Given the description of an element on the screen output the (x, y) to click on. 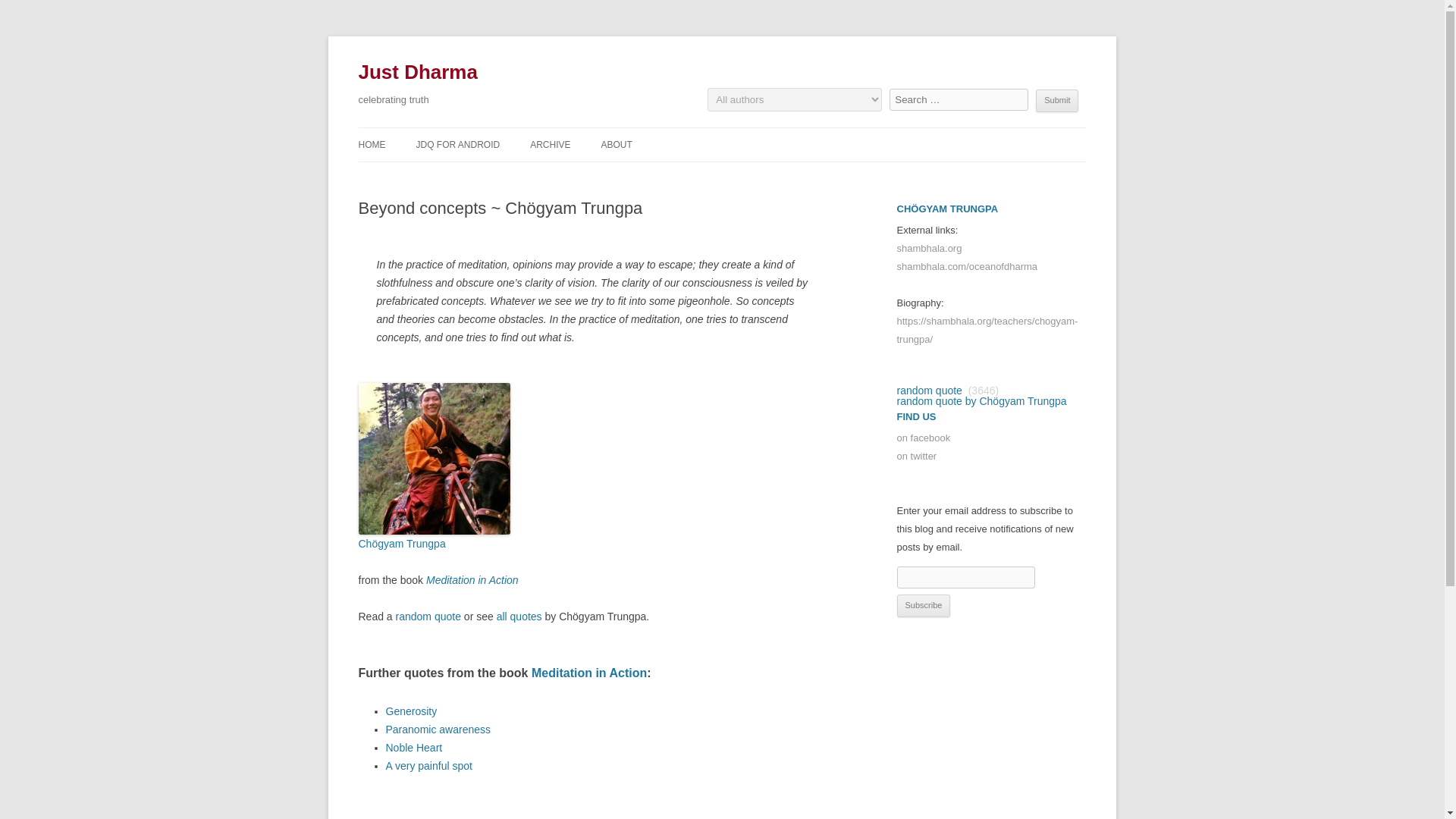
ARCHIVE (549, 144)
Noble Heart (413, 747)
Paranomic awareness (437, 729)
ABOUT (615, 144)
Subscribe (923, 605)
on facebook (923, 437)
Subscribe (923, 605)
Just Dharma (417, 72)
